Given the description of an element on the screen output the (x, y) to click on. 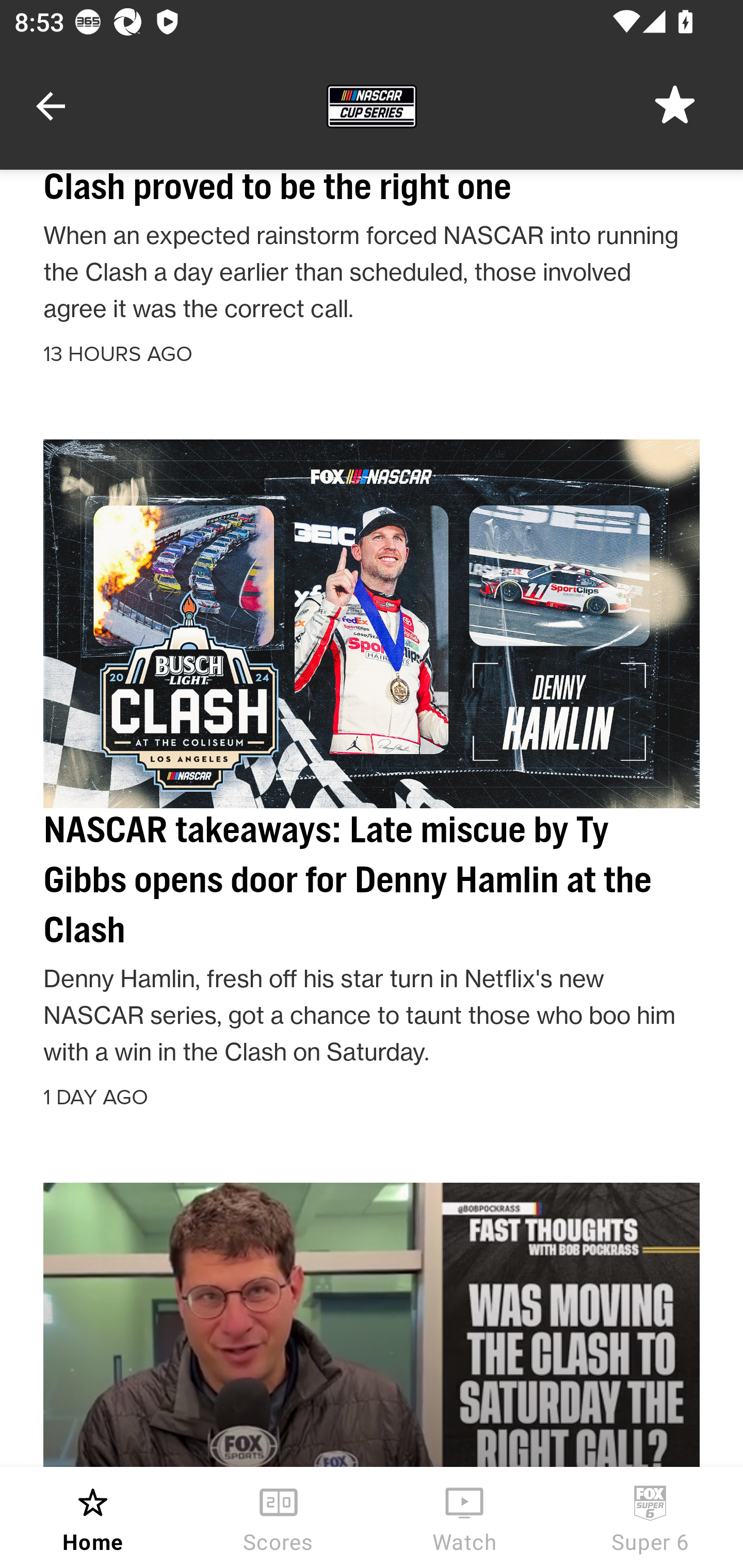
Navigate up (50, 106)
Scores (278, 1517)
Watch (464, 1517)
Super 6 (650, 1517)
